Given the description of an element on the screen output the (x, y) to click on. 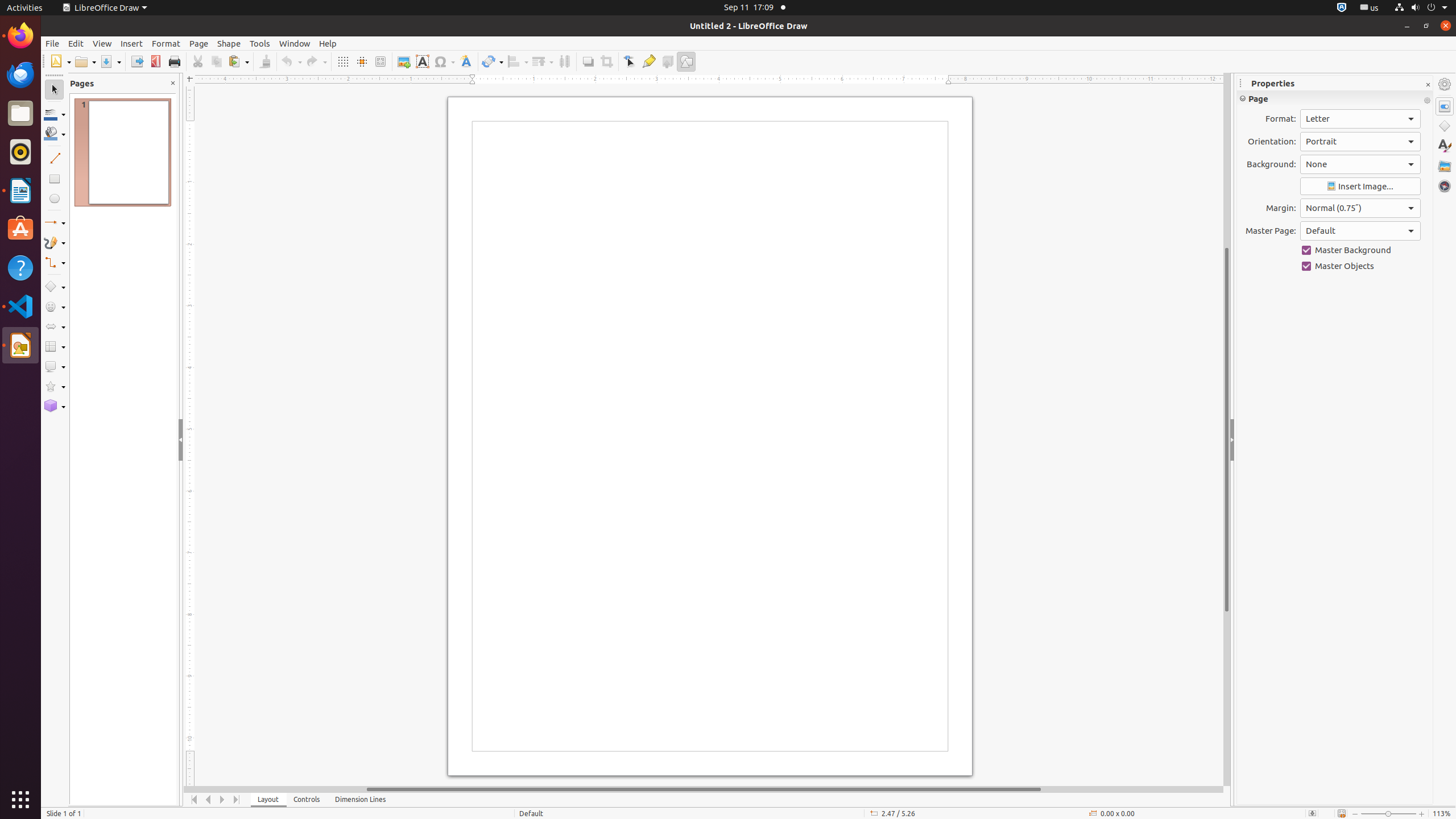
Help Element type: menu (327, 43)
Shadow Element type: toggle-button (587, 61)
Rectangle Element type: push-button (53, 178)
Layout Element type: page-tab (268, 799)
Clone Element type: push-button (264, 61)
